Given the description of an element on the screen output the (x, y) to click on. 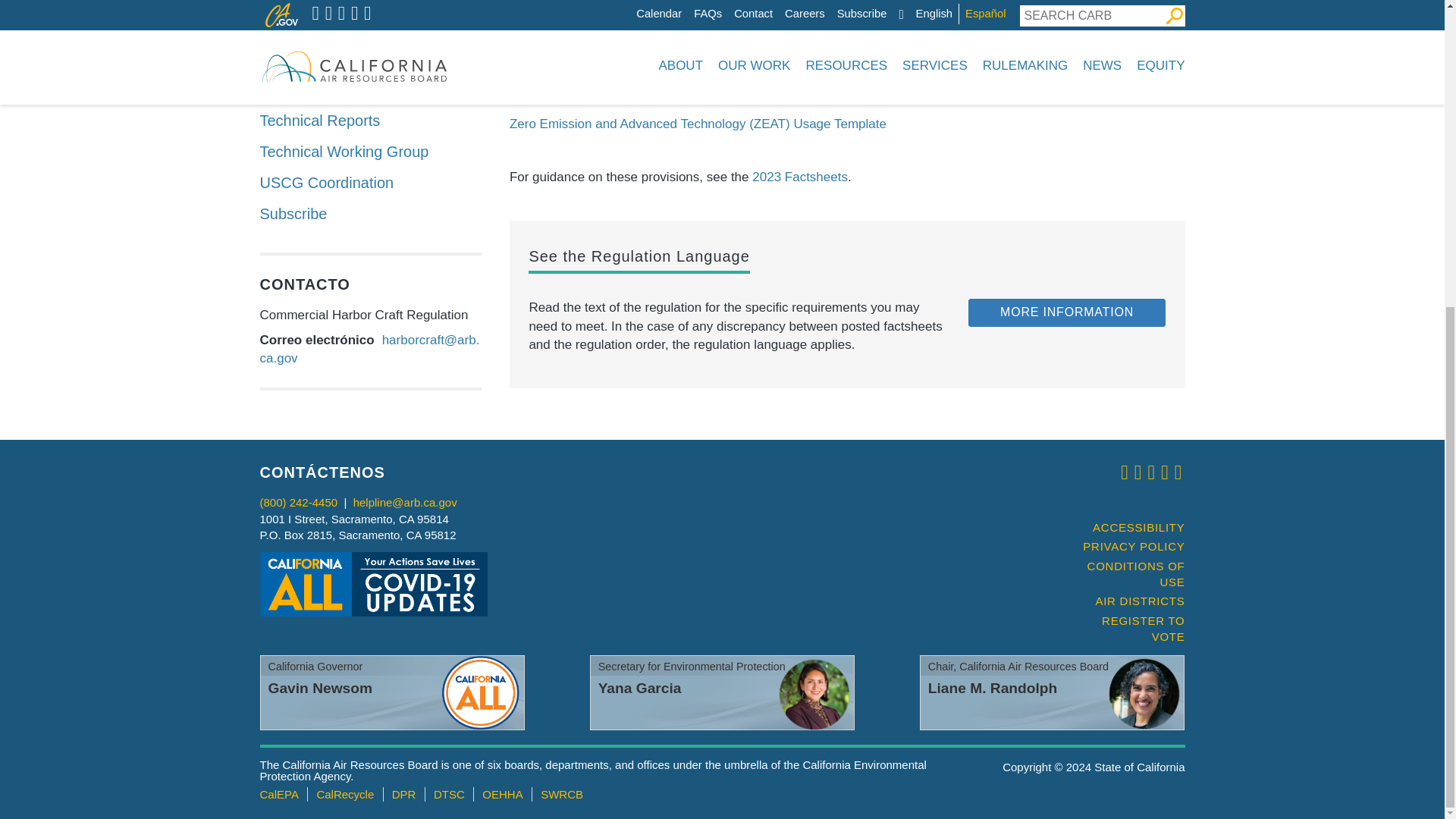
California online voter registration (1127, 628)
California Environmental Protection Agency (278, 794)
